Given the description of an element on the screen output the (x, y) to click on. 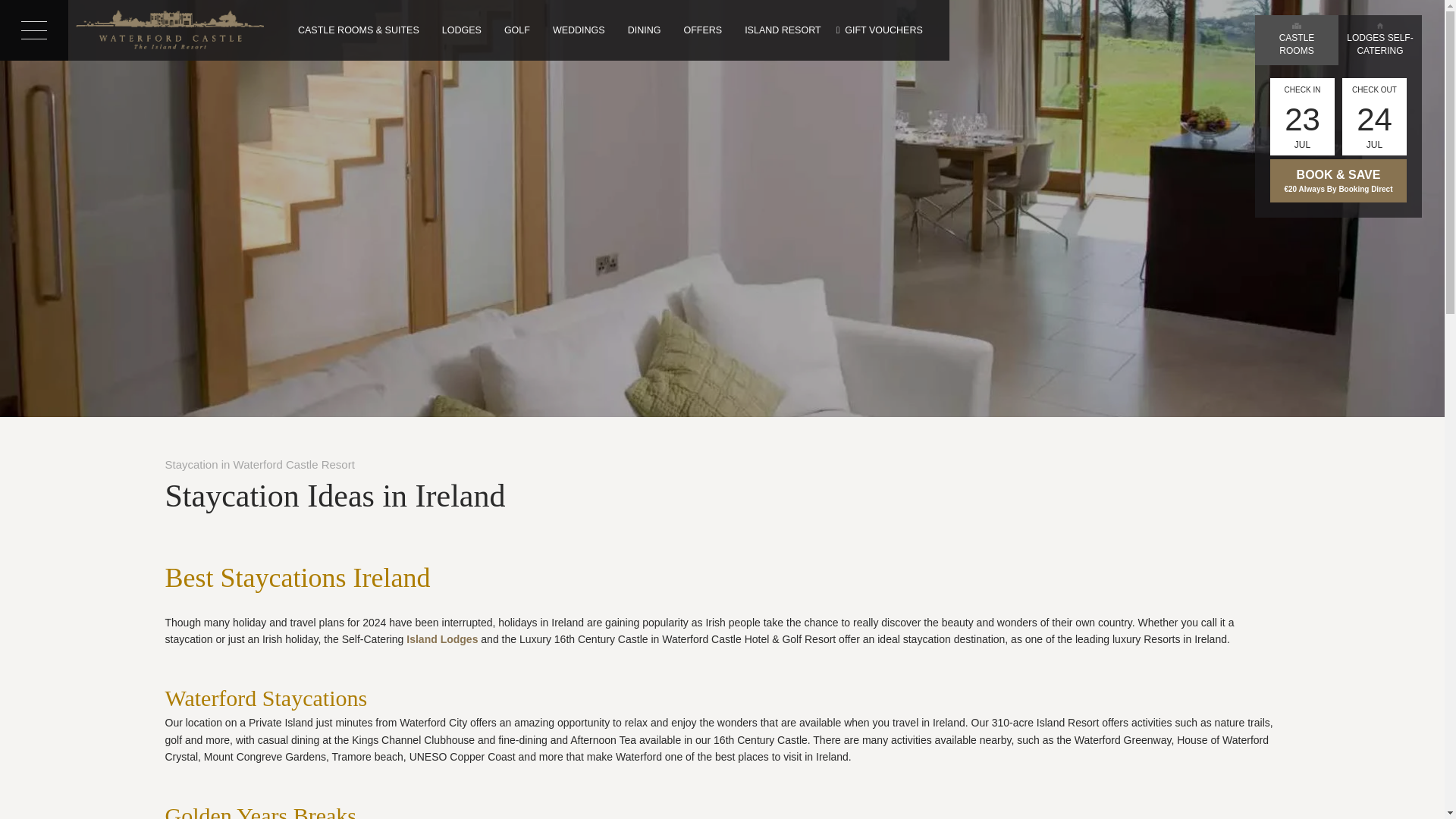
DINING (643, 31)
WEDDINGS (578, 31)
Enjoy stunning views and all the amenities you need (358, 31)
OFFERS (702, 31)
3 Bedroom Self Catering Accommodation (461, 31)
LODGES (461, 31)
